Given the description of an element on the screen output the (x, y) to click on. 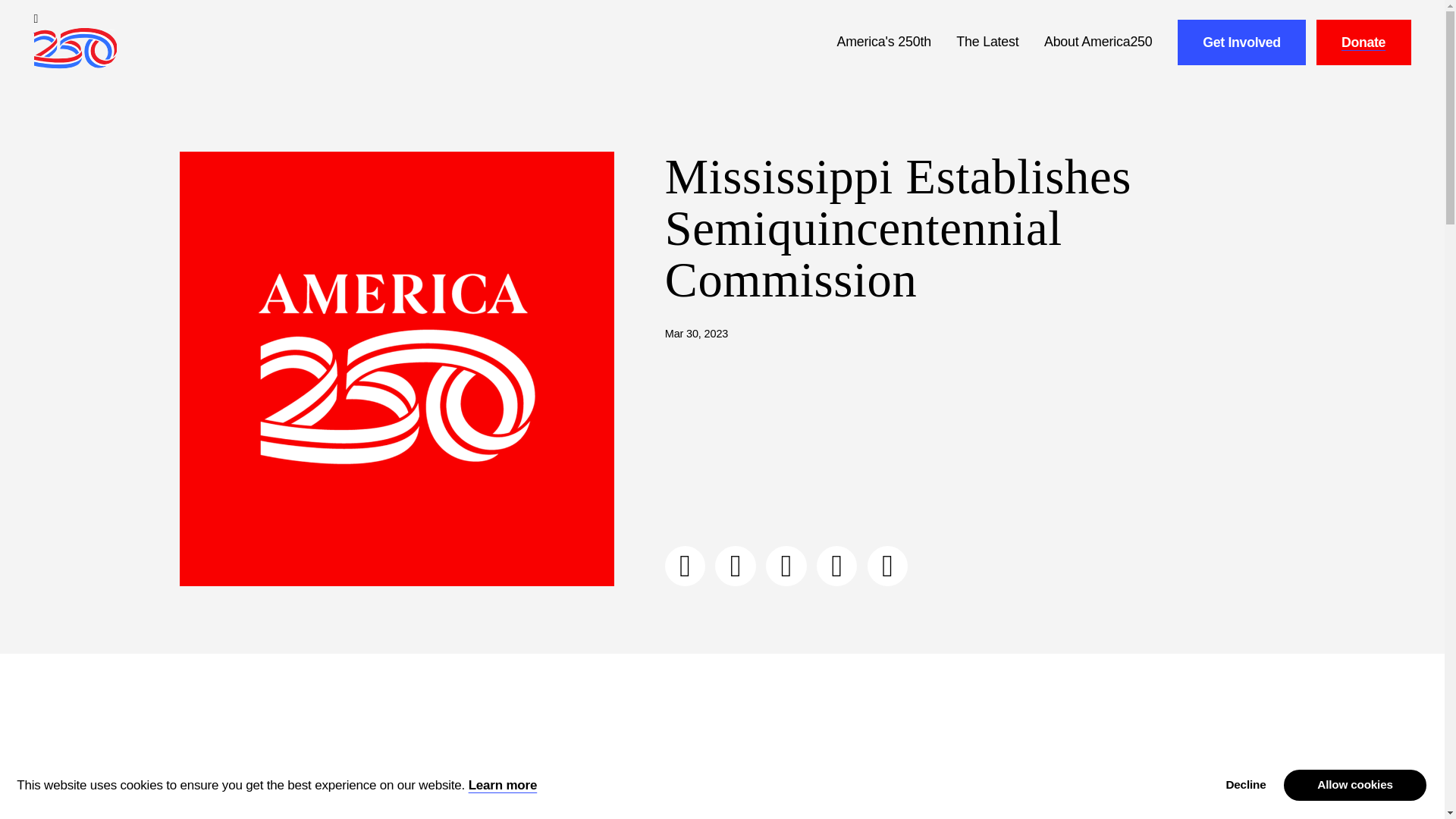
America's 250th (884, 41)
About America250 (1098, 41)
Donate (1363, 42)
Get Involved (1241, 42)
Learn more (502, 785)
Allow cookies (1354, 785)
Decline (1245, 785)
The Latest (986, 41)
